Given the description of an element on the screen output the (x, y) to click on. 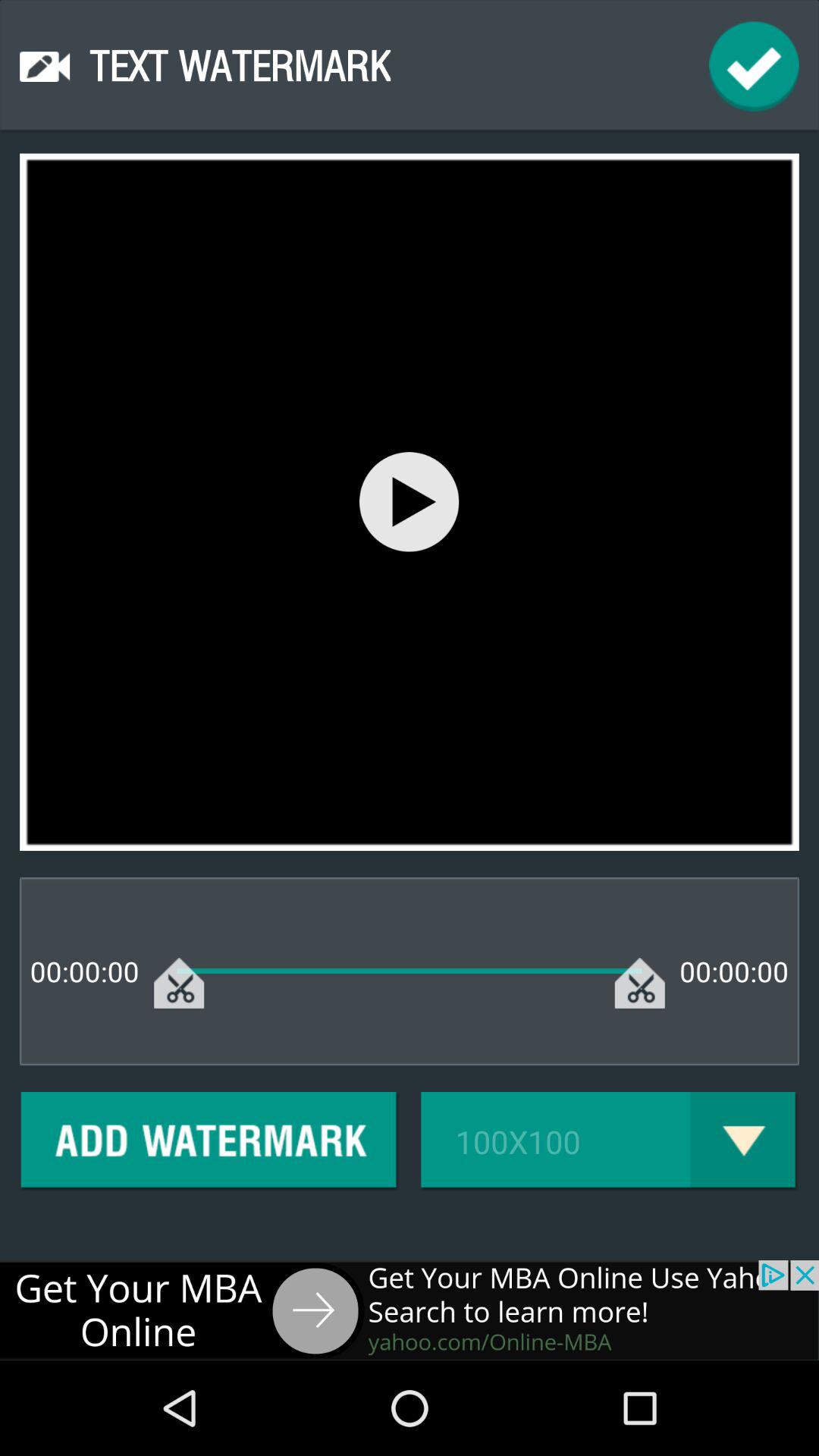
finish the text watermark (754, 66)
